Given the description of an element on the screen output the (x, y) to click on. 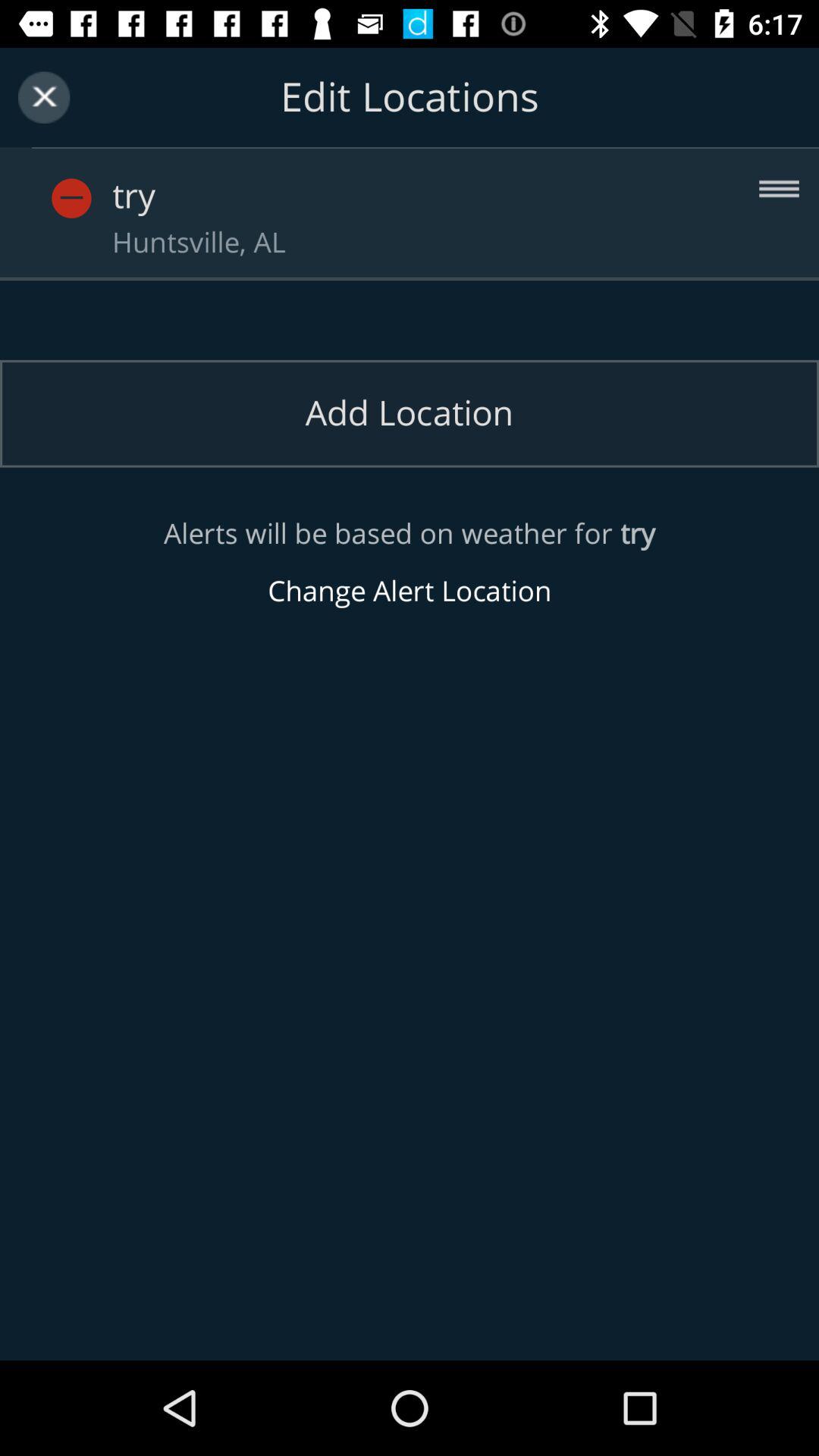
exit page (43, 97)
